Given the description of an element on the screen output the (x, y) to click on. 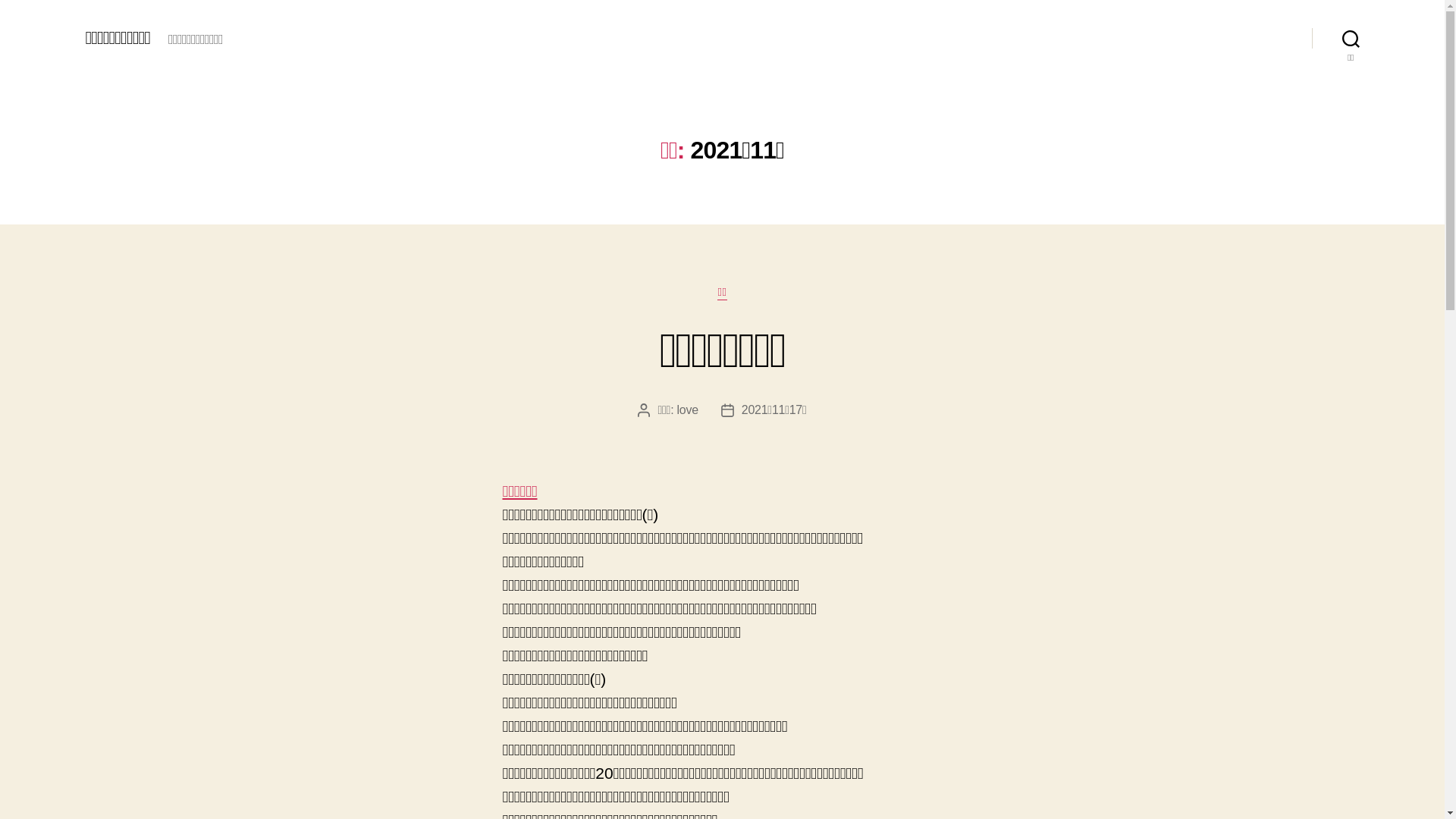
love Element type: text (687, 409)
